Given the description of an element on the screen output the (x, y) to click on. 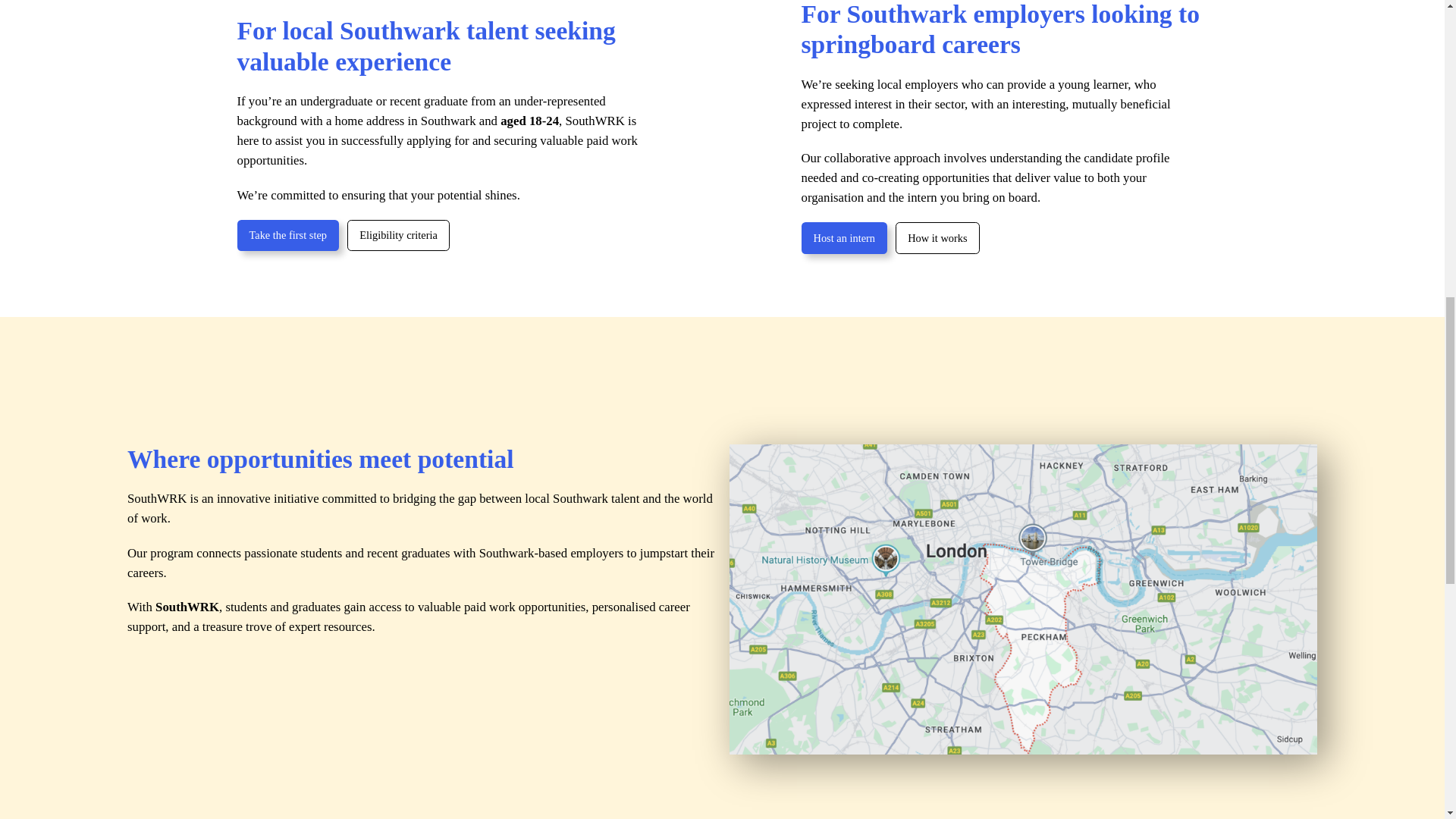
Eligibility criteria (398, 235)
Host an intern (843, 237)
Take the first step (287, 235)
How it works (936, 237)
